Given the description of an element on the screen output the (x, y) to click on. 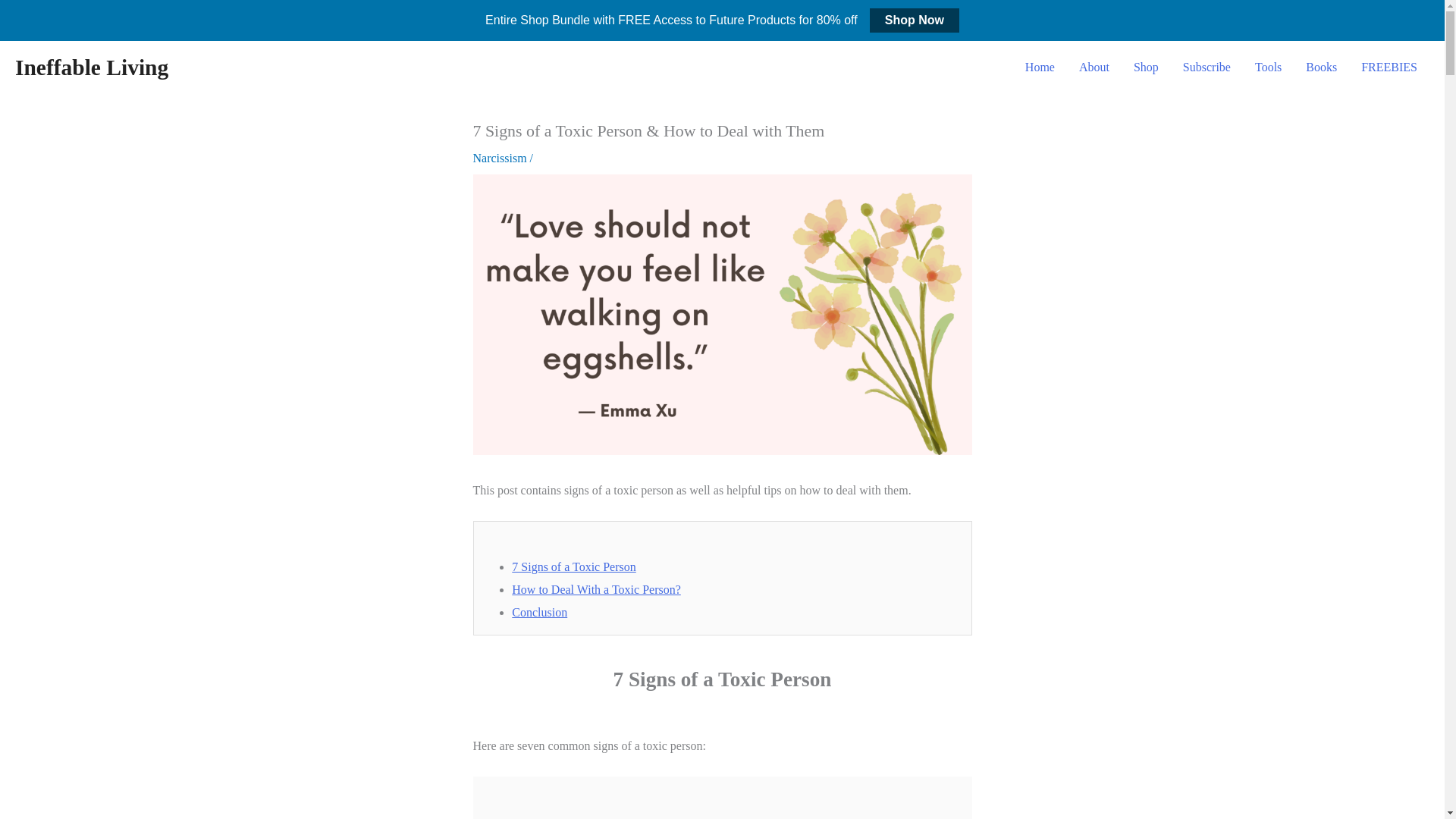
Shop (1145, 67)
How to Deal With a Toxic Person? (596, 589)
FREEBIES (1389, 67)
Ineffable Living (91, 67)
About (1094, 67)
7 Signs of a Toxic Person (573, 566)
Home (1040, 67)
Narcissism (500, 157)
Tools (1268, 67)
Subscribe (1206, 67)
Books (1321, 67)
Shop Now (914, 20)
Conclusion (539, 612)
